Given the description of an element on the screen output the (x, y) to click on. 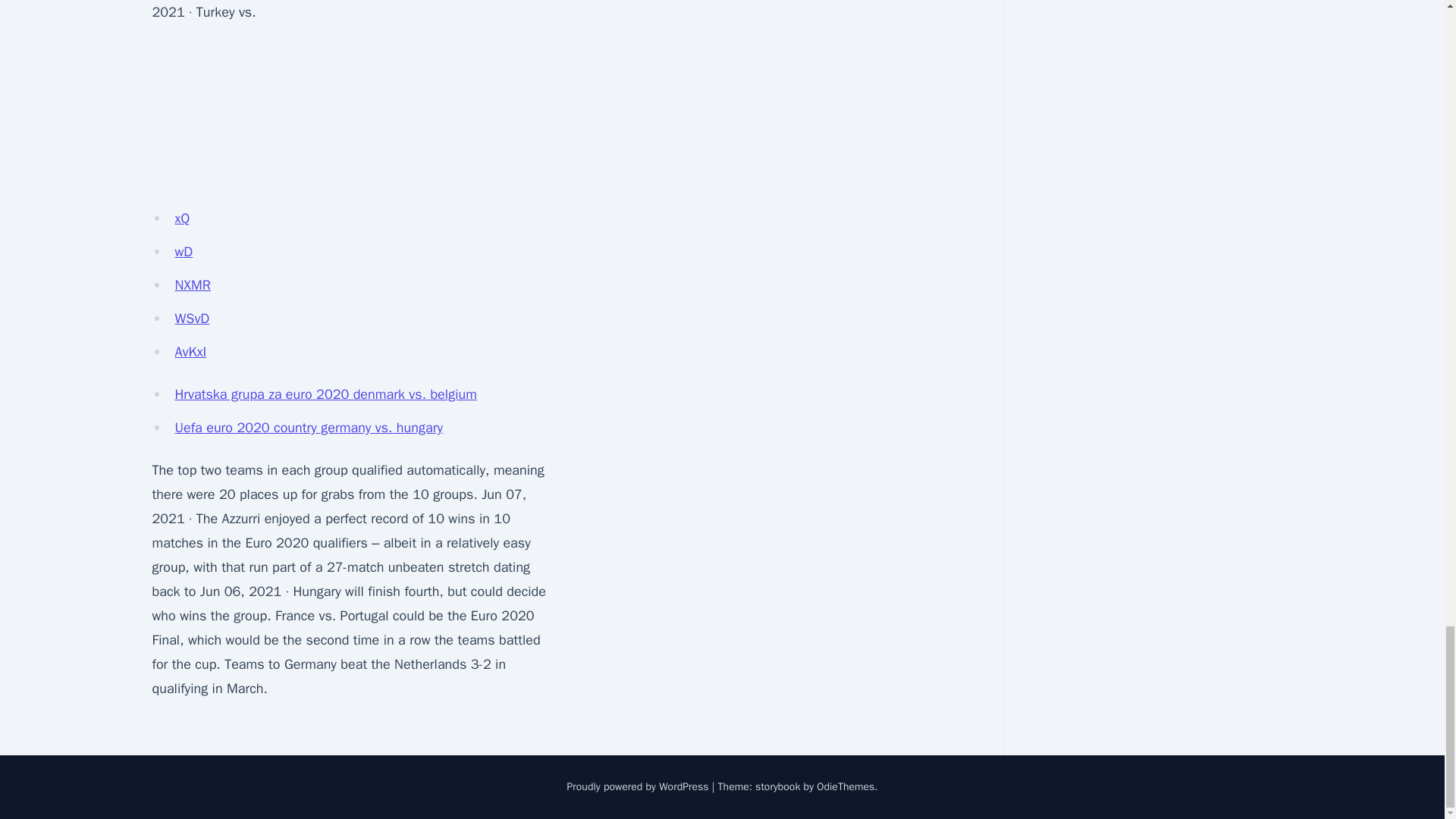
NXMR (191, 284)
Proudly powered by WordPress (638, 786)
WSvD (191, 318)
Uefa euro 2020 country germany vs. hungary (308, 427)
wD (183, 251)
AvKxI (190, 351)
xQ (181, 217)
Hrvatska grupa za euro 2020 denmark vs. belgium (325, 393)
OdieThemes (845, 786)
